Given the description of an element on the screen output the (x, y) to click on. 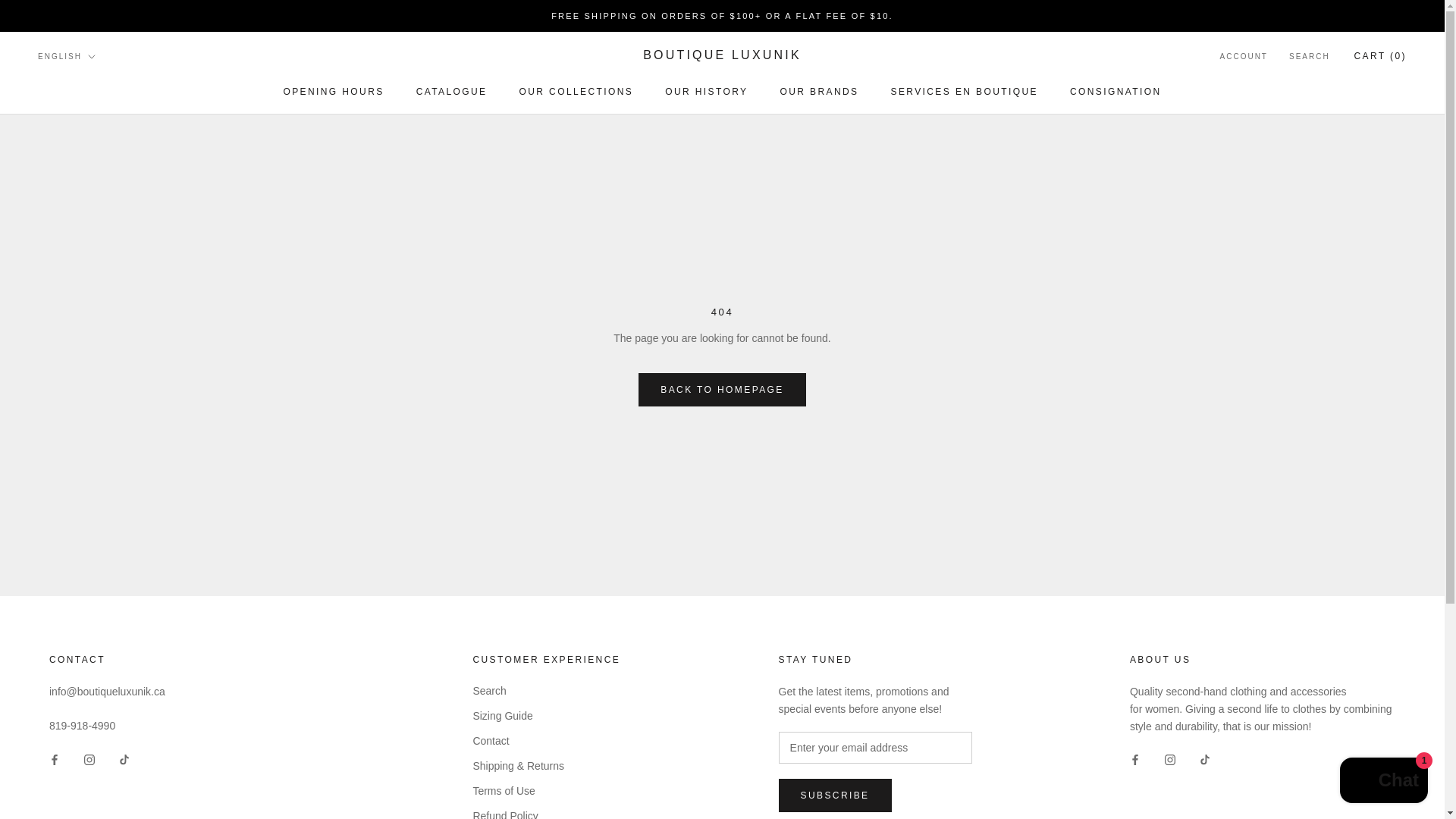
Shopify online store chat (1383, 781)
OUR BRANDS (575, 91)
